Given the description of an element on the screen output the (x, y) to click on. 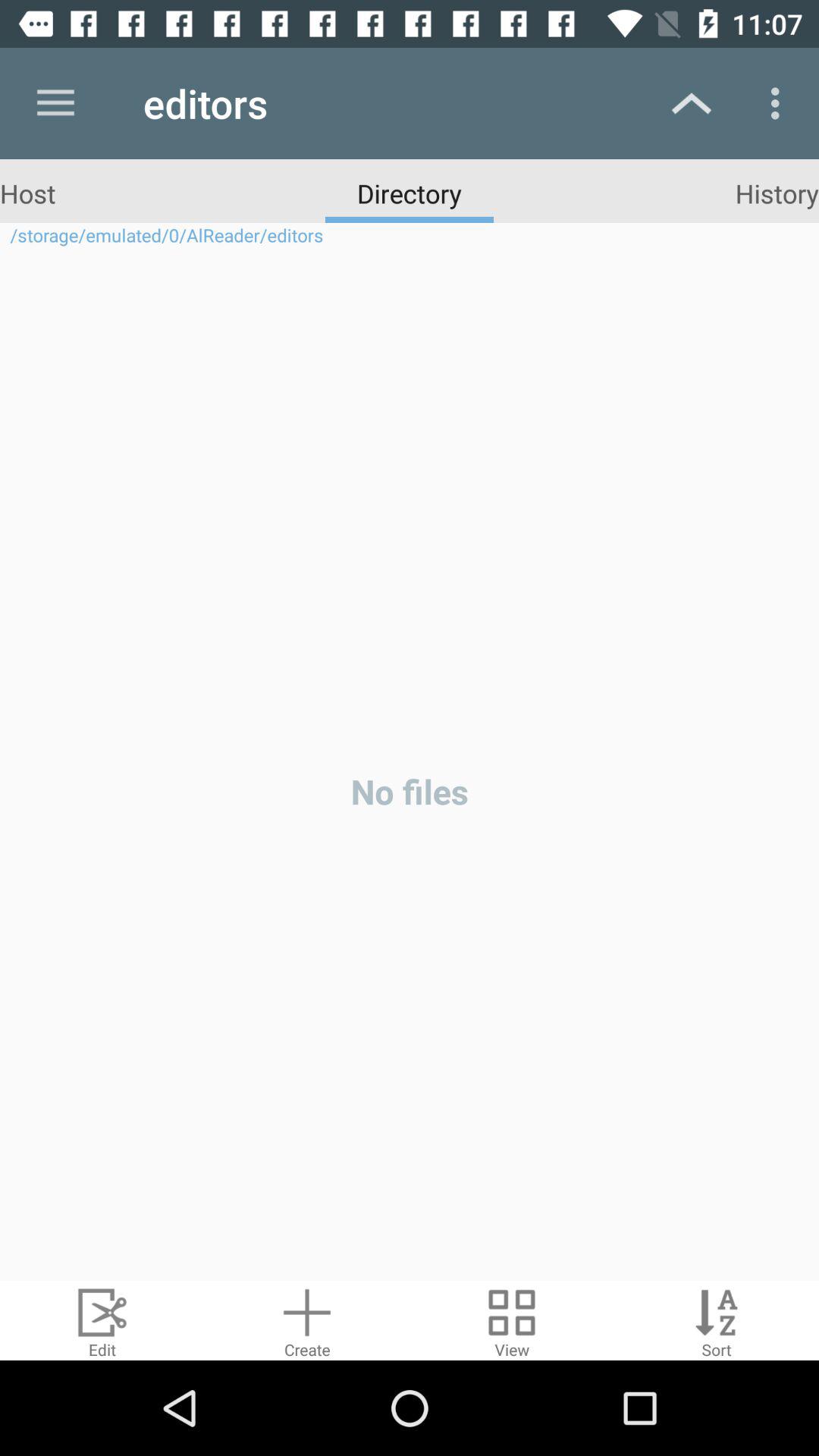
turn on item to the left of the directory icon (27, 193)
